Given the description of an element on the screen output the (x, y) to click on. 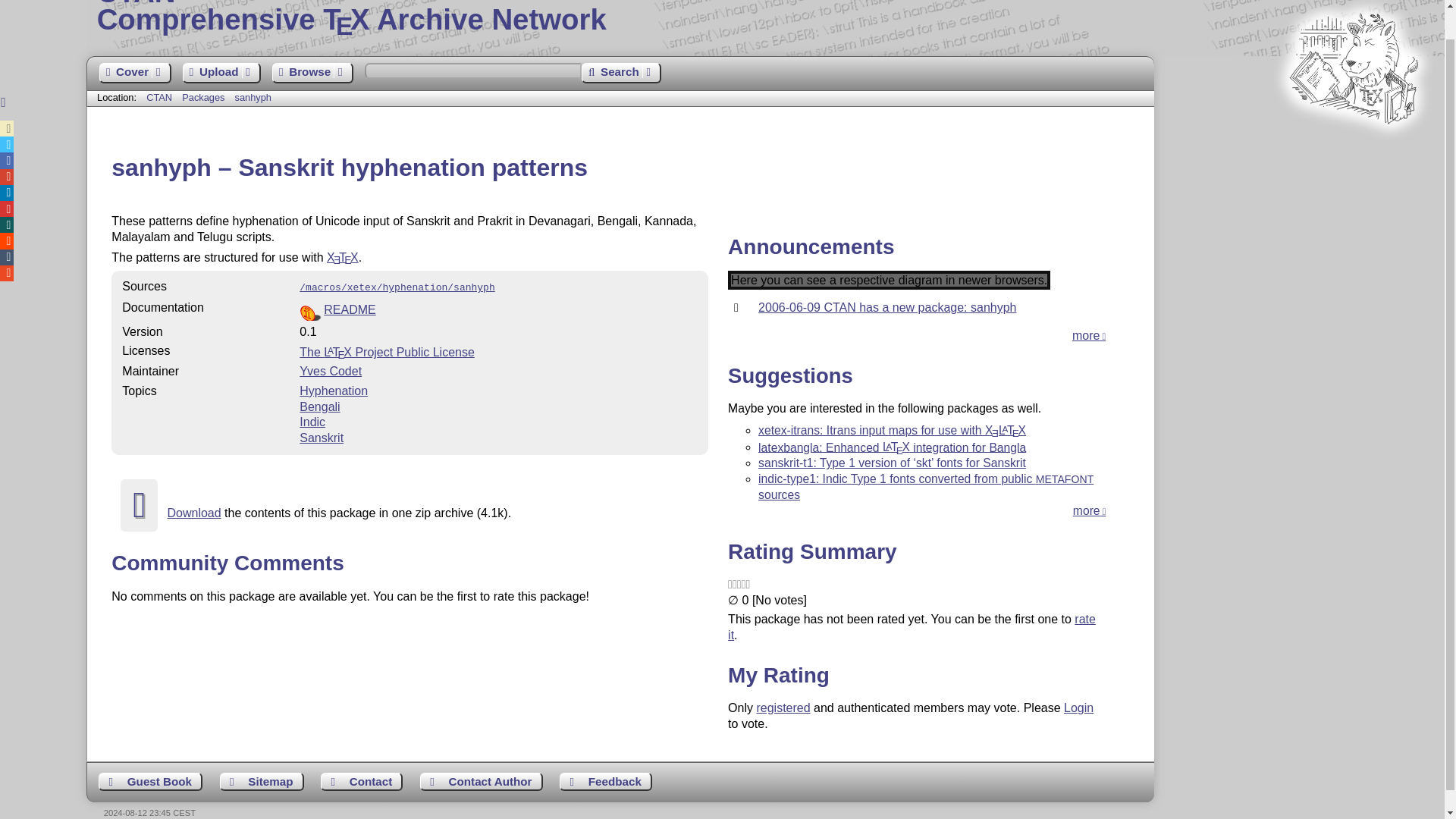
Show the structure of this site (261, 782)
Read Me file (498, 310)
Get help on how to contact an author (481, 782)
Send feedback on the current web page to the Web masters (605, 782)
Cover (134, 73)
Leave some words for other visitors (150, 782)
Packages (765, 17)
XETEX (204, 97)
CTAN (342, 256)
